Given the description of an element on the screen output the (x, y) to click on. 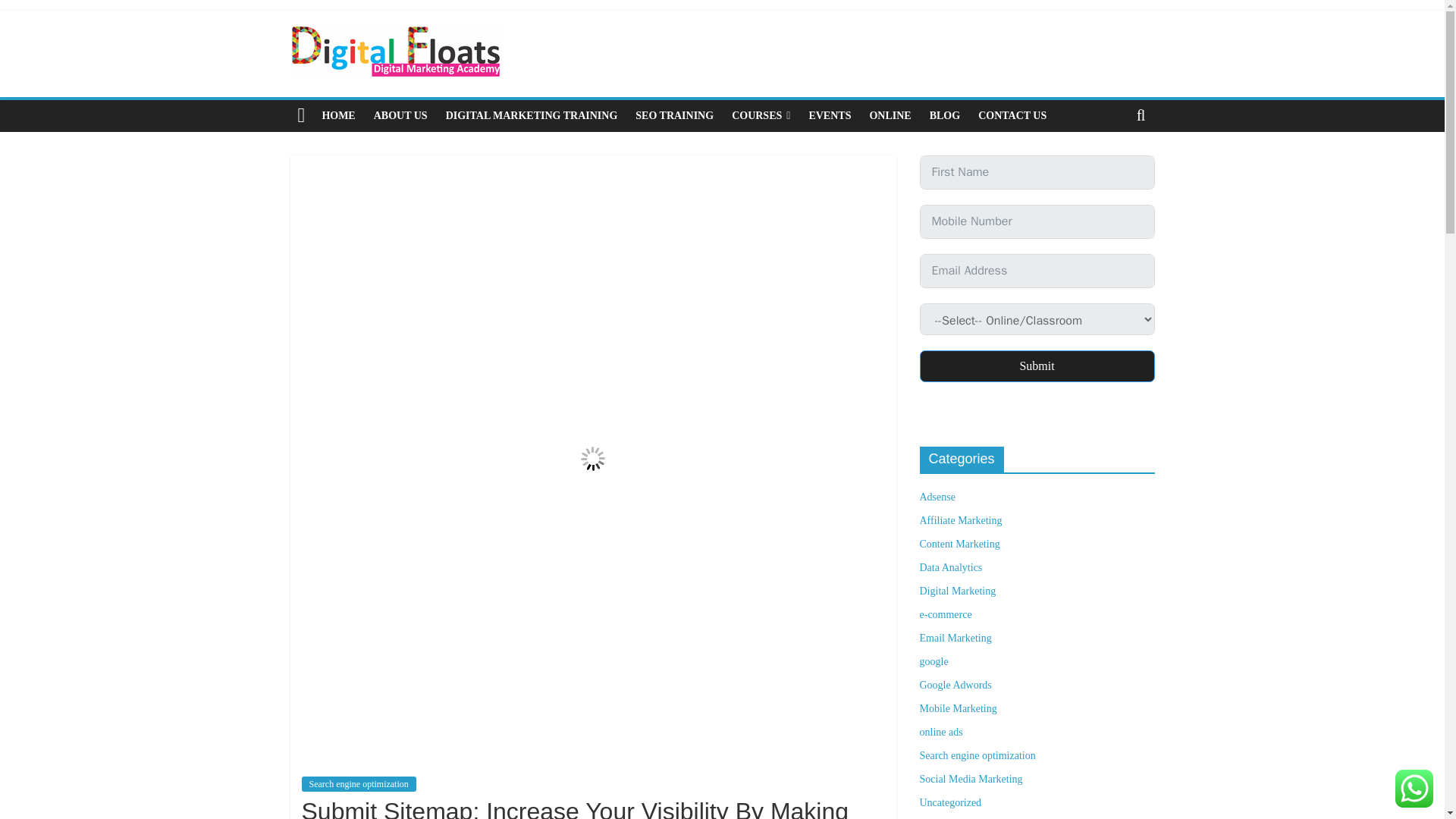
CONTACT US (1012, 115)
SEO TRAINING (674, 115)
COURSES (760, 115)
HOME (338, 115)
EVENTS (829, 115)
ABOUT US (400, 115)
Search engine optimization (358, 783)
DIGITAL MARKETING TRAINING (531, 115)
BLOG (944, 115)
ONLINE (890, 115)
